Given the description of an element on the screen output the (x, y) to click on. 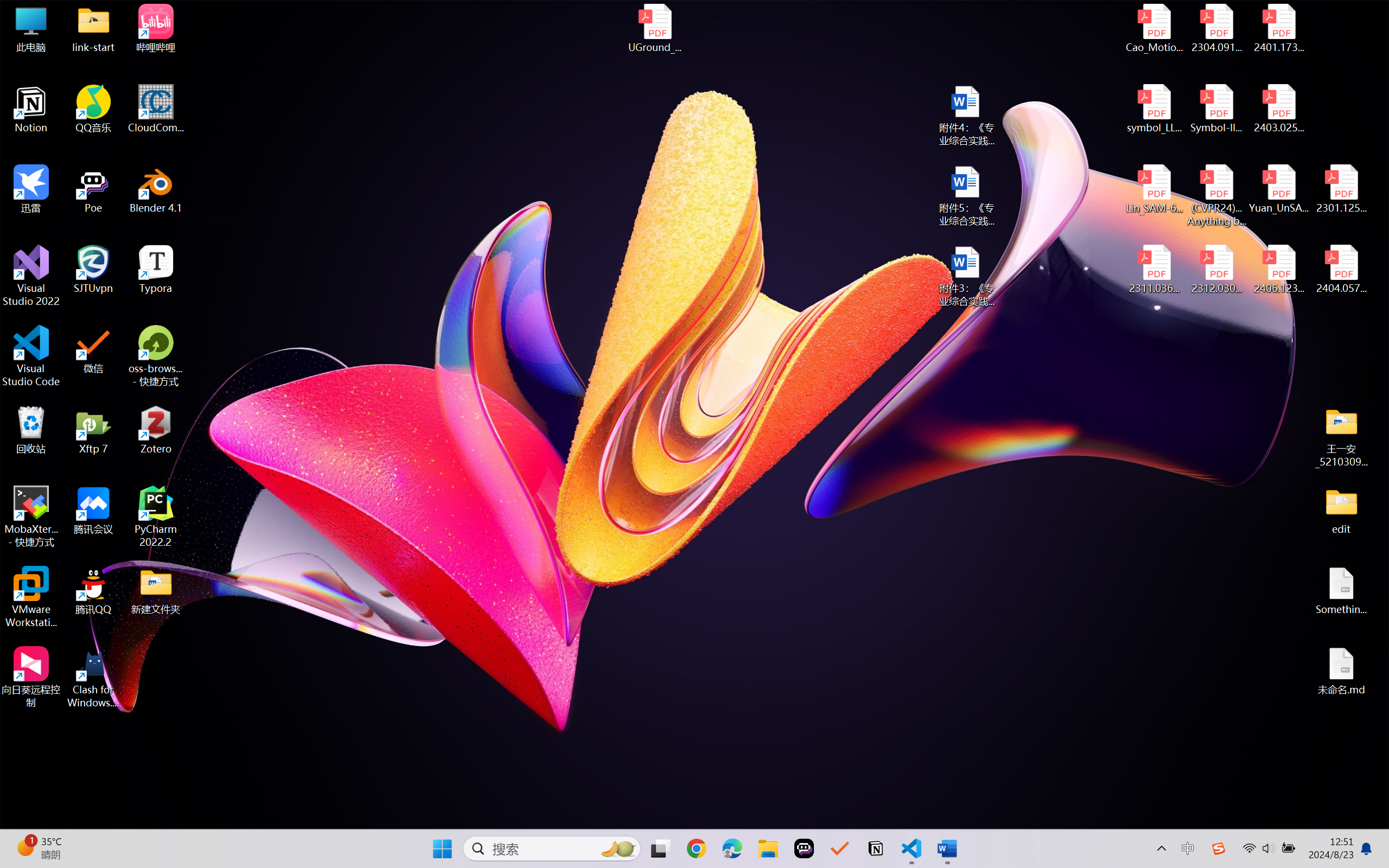
UGround_paper.pdf (654, 28)
PyCharm 2022.2 (156, 516)
2311.03658v2.pdf (1154, 269)
